Given the description of an element on the screen output the (x, y) to click on. 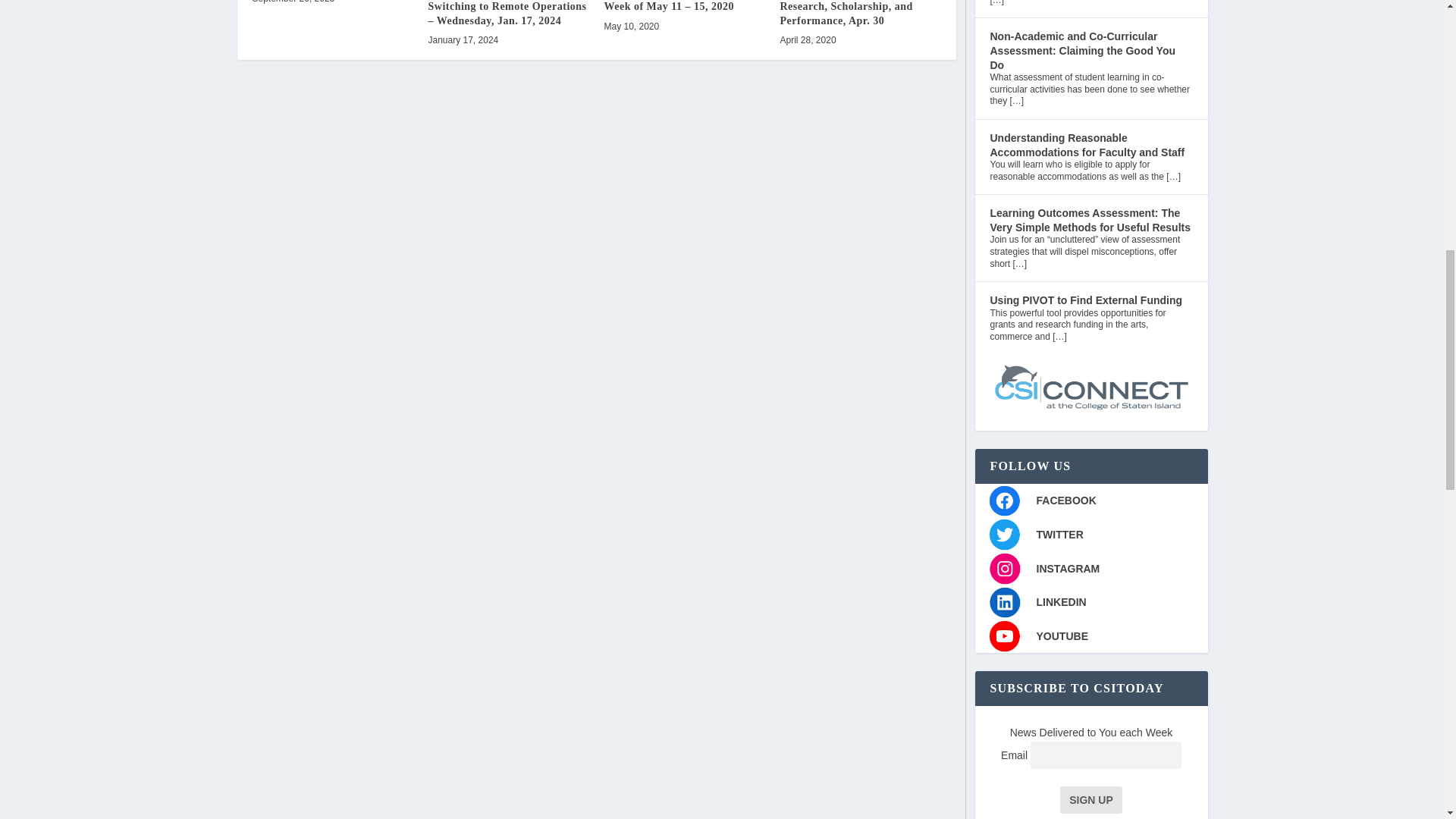
Sign up (1090, 800)
